Given the description of an element on the screen output the (x, y) to click on. 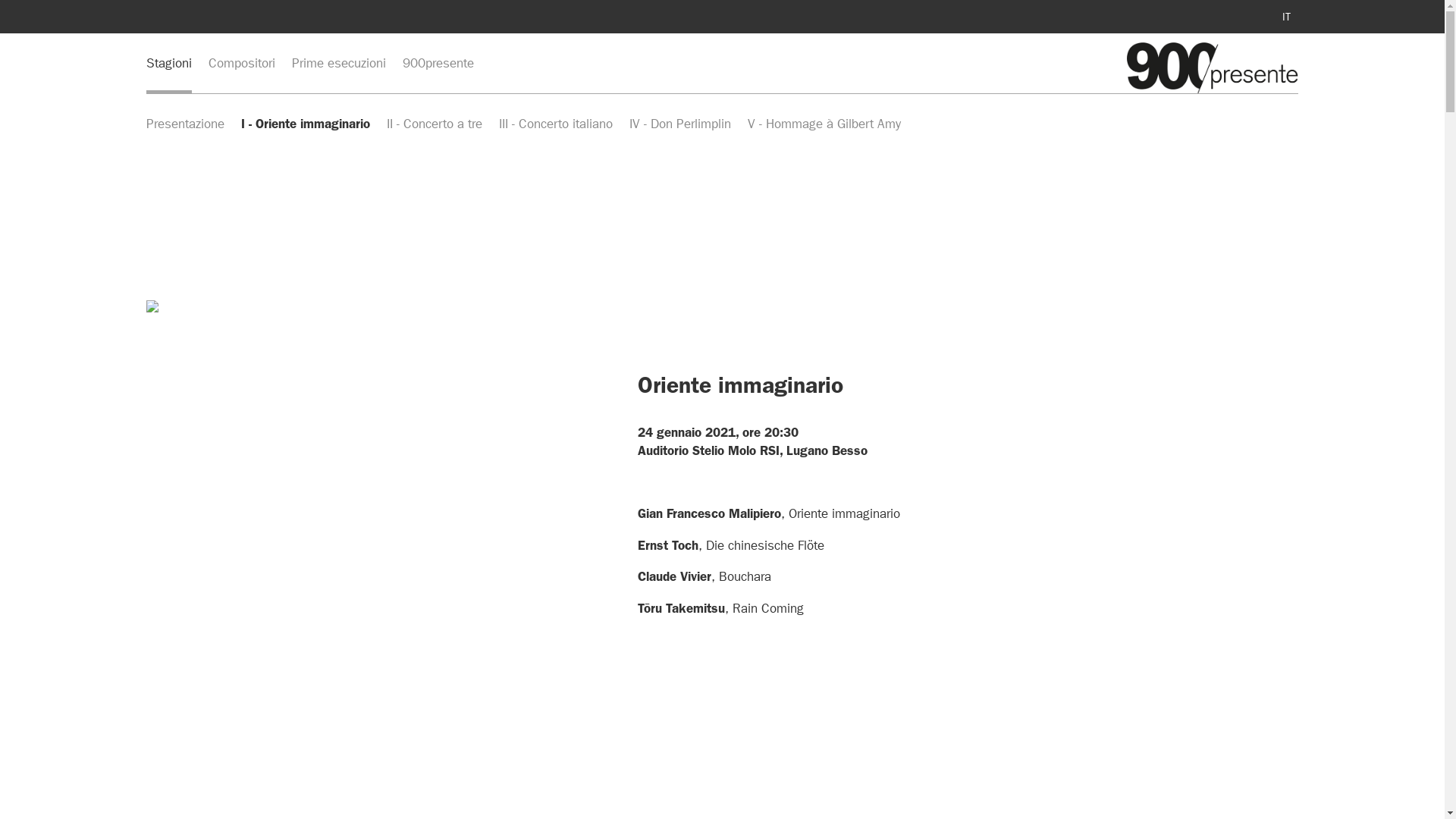
Prime esecuzioni Element type: text (338, 62)
Stagioni Element type: text (168, 62)
I - Oriente immaginario Element type: text (305, 123)
IT Element type: text (1286, 16)
IV - Don Perlimplin Element type: text (680, 123)
Presentazione Element type: text (185, 123)
Compositori Element type: text (241, 62)
III - Concerto italiano Element type: text (555, 123)
II - Concerto a tre Element type: text (434, 123)
900presente Element type: text (437, 62)
